Given the description of an element on the screen output the (x, y) to click on. 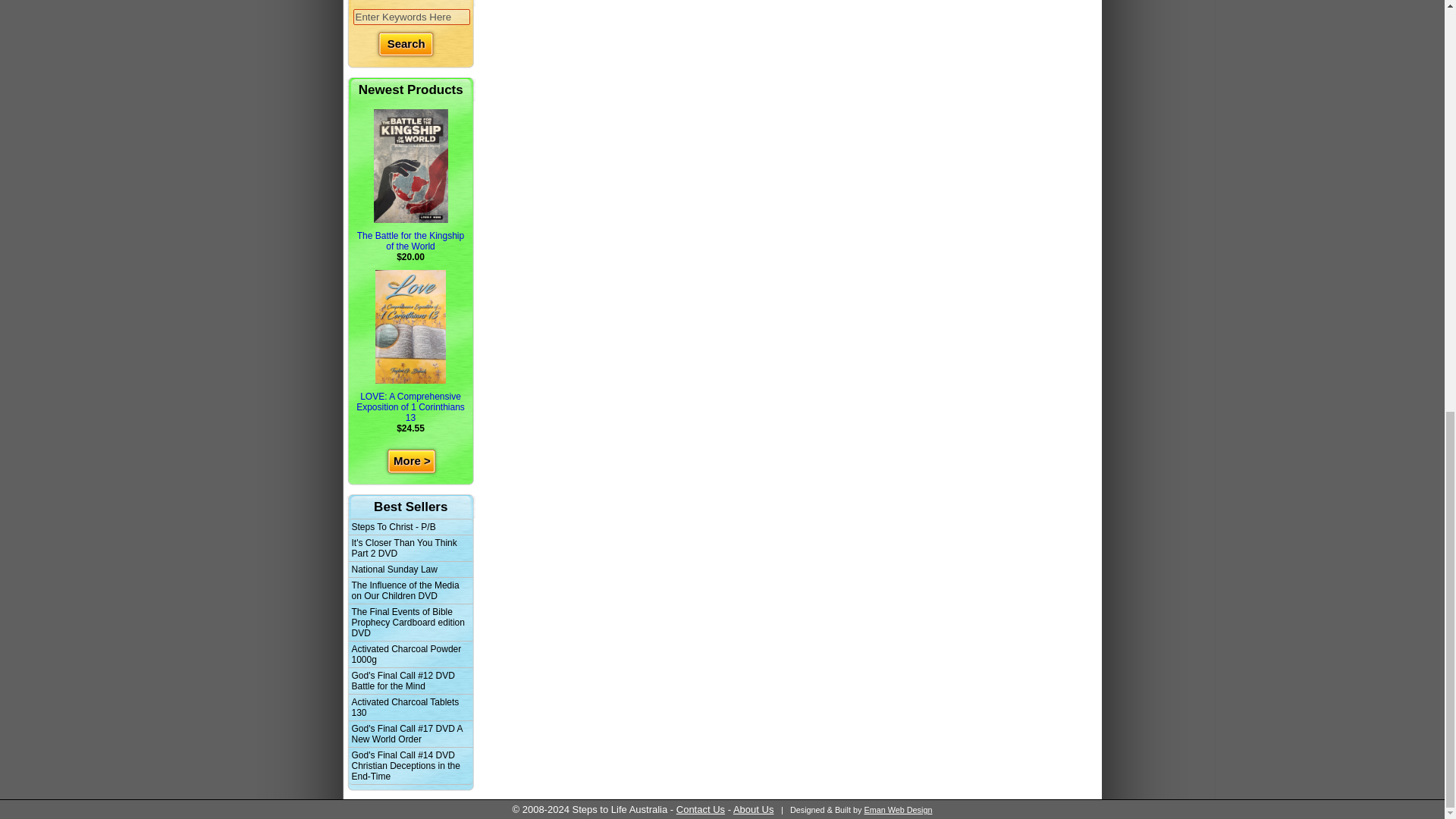
Enter Keywords Here (411, 17)
